Given the description of an element on the screen output the (x, y) to click on. 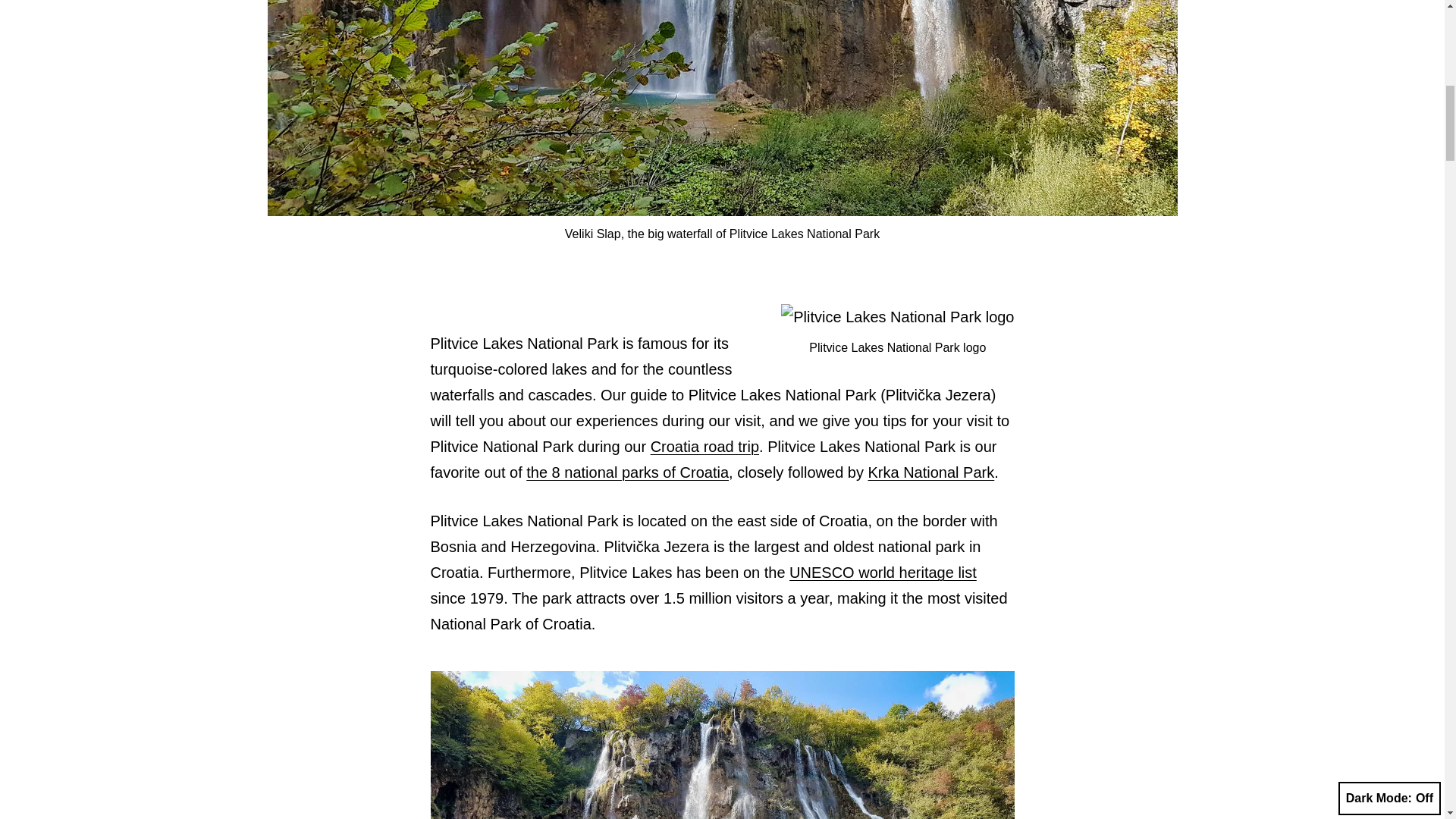
Croatia road trip (704, 446)
Krka National Park (930, 472)
UNESCO world heritage list (882, 572)
the 8 national parks of Croatia (627, 472)
